Given the description of an element on the screen output the (x, y) to click on. 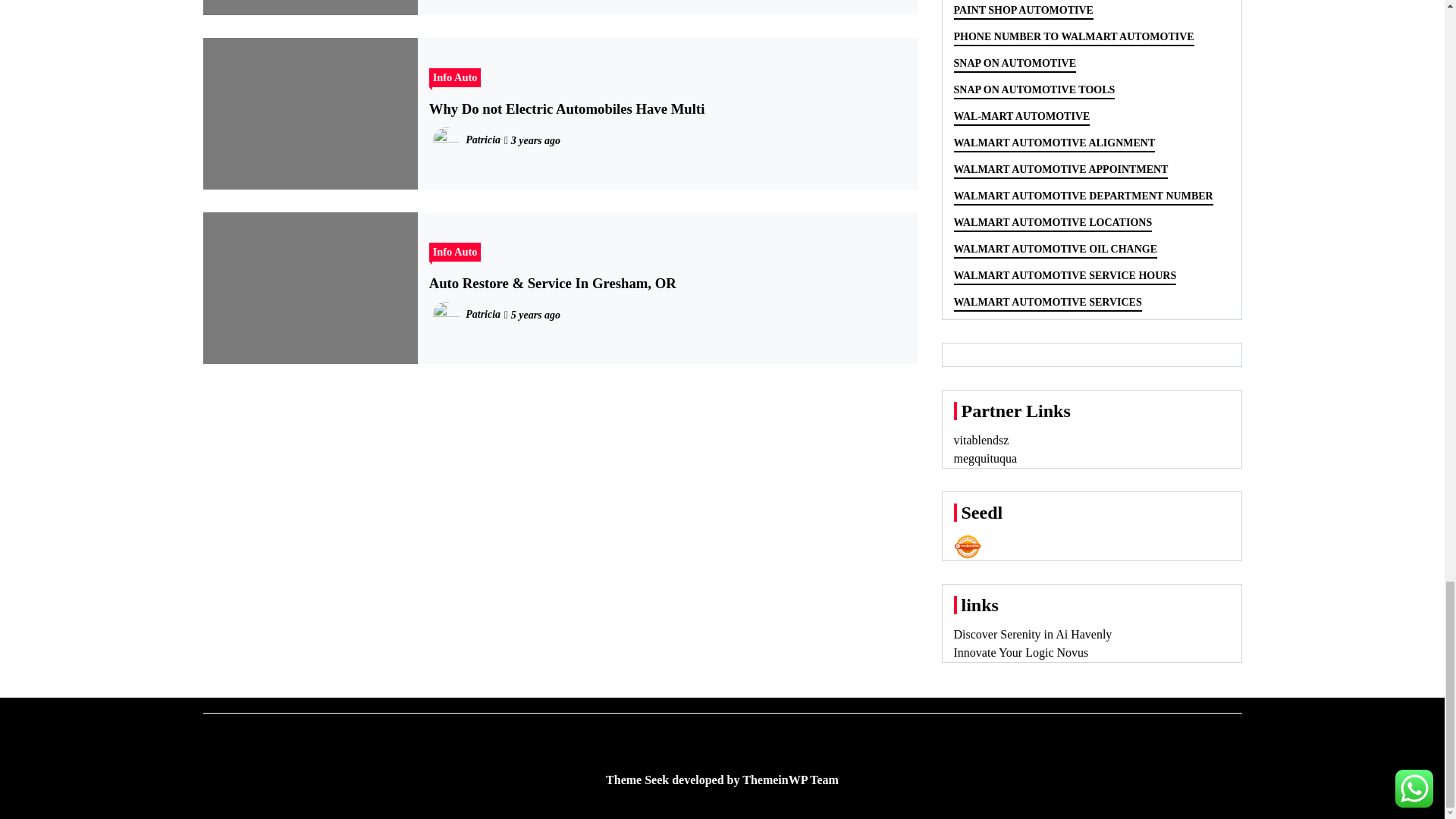
Seedbacklink (967, 546)
